Given the description of an element on the screen output the (x, y) to click on. 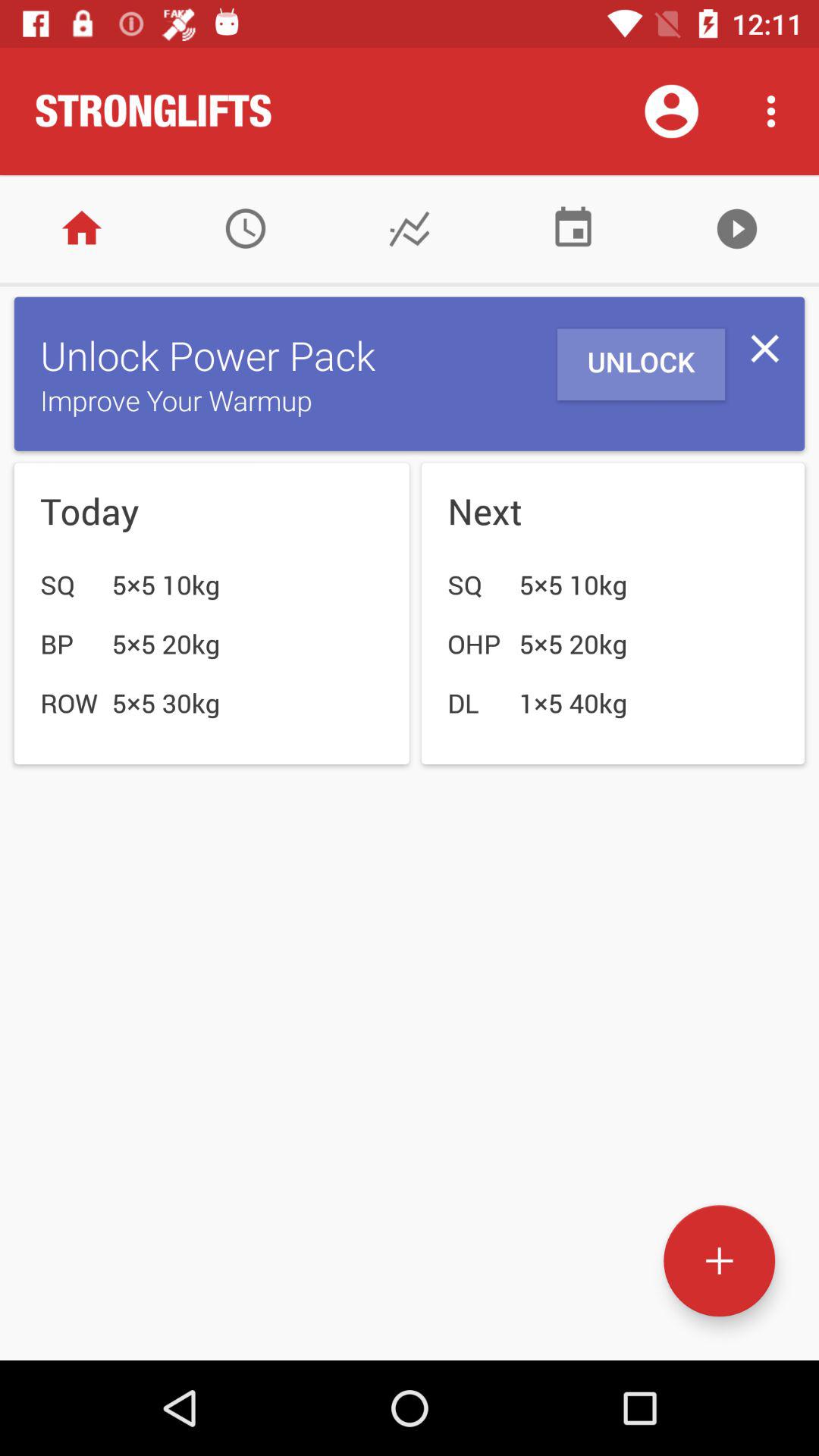
close tab (764, 348)
